Given the description of an element on the screen output the (x, y) to click on. 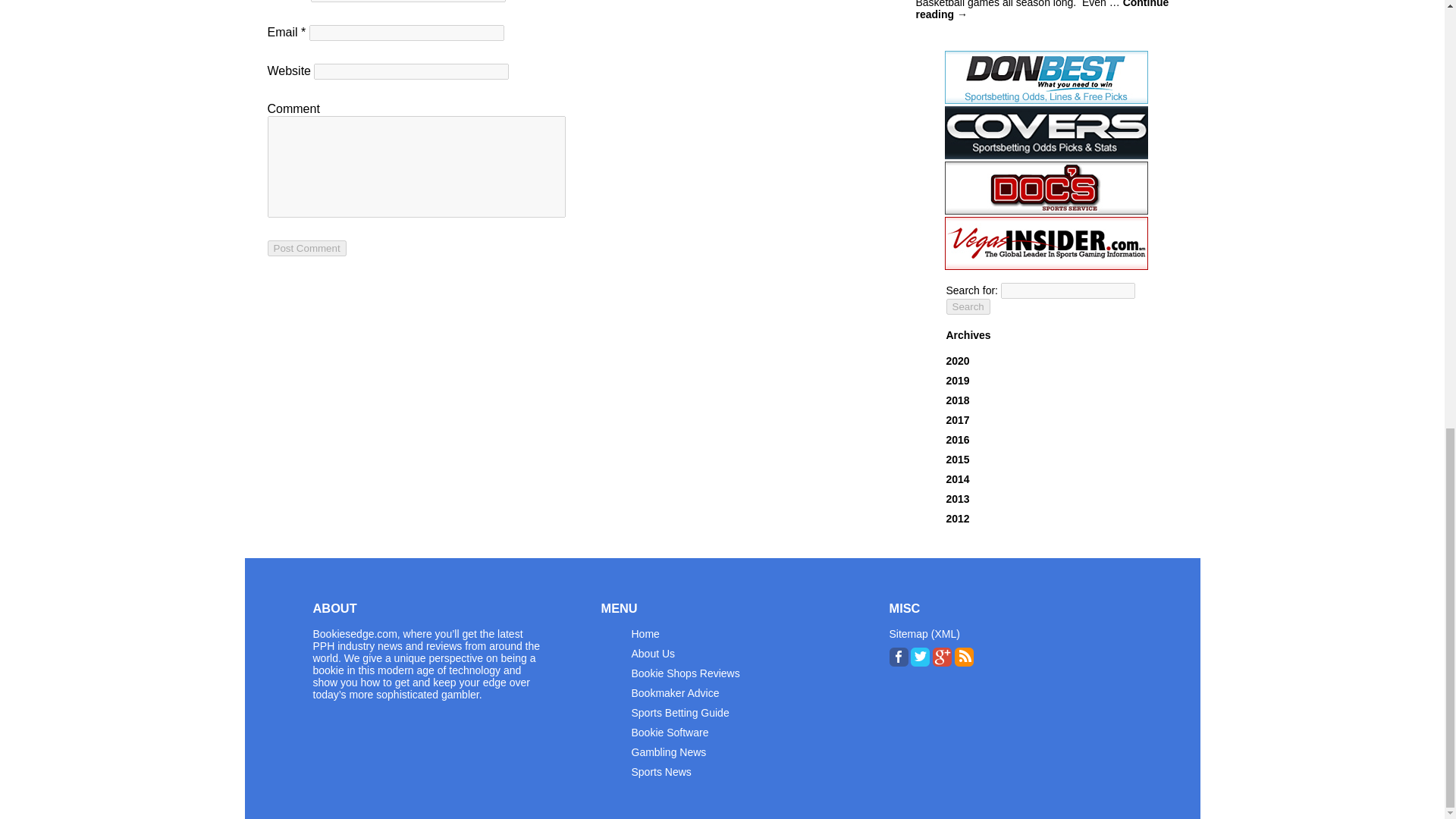
2020 (957, 360)
Post Comment (306, 248)
2019 (957, 380)
Search (968, 306)
2018 (957, 399)
Post Comment (306, 248)
Search (968, 306)
